Given the description of an element on the screen output the (x, y) to click on. 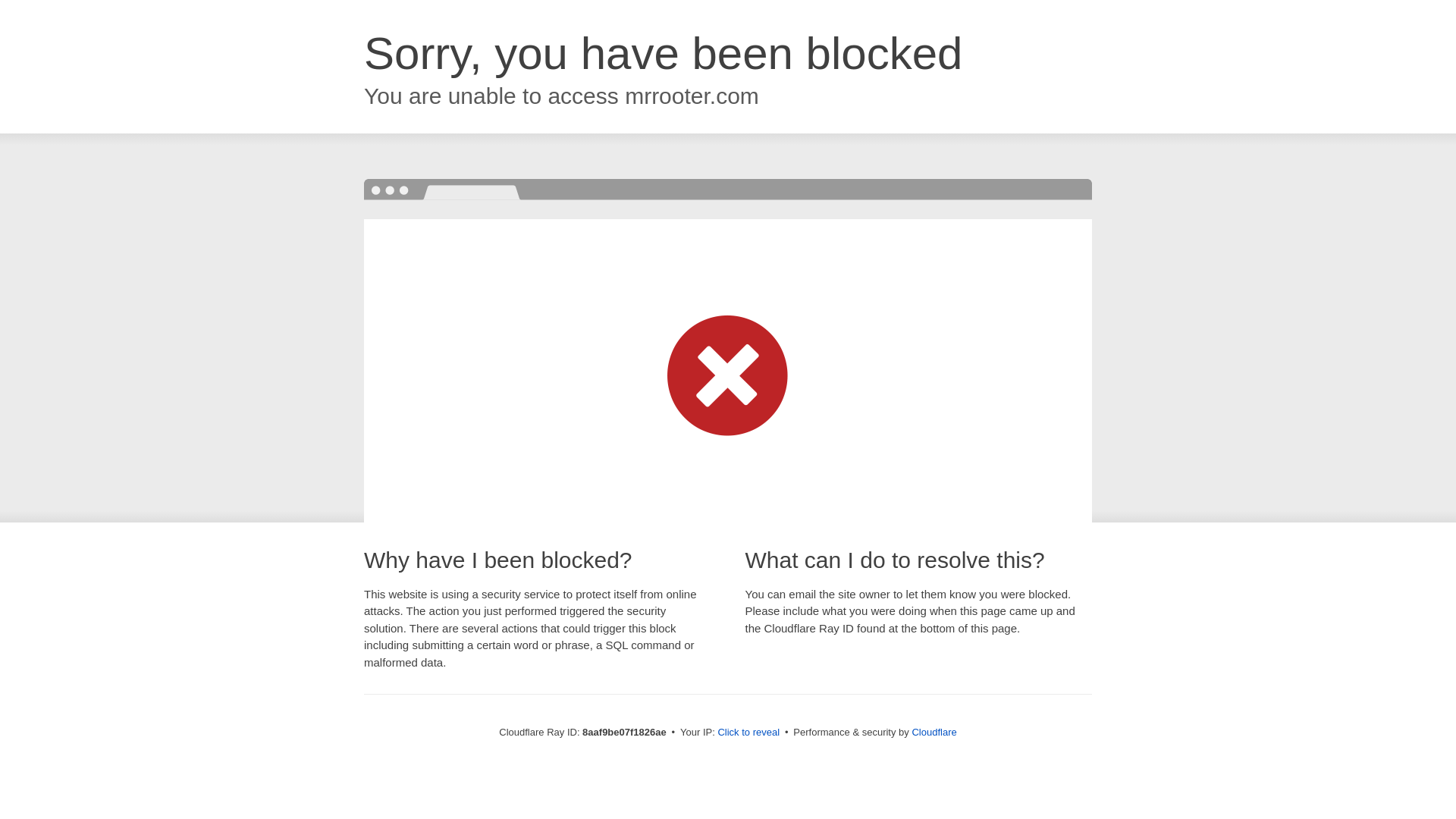
Cloudflare (933, 731)
Click to reveal (747, 732)
